Given the description of an element on the screen output the (x, y) to click on. 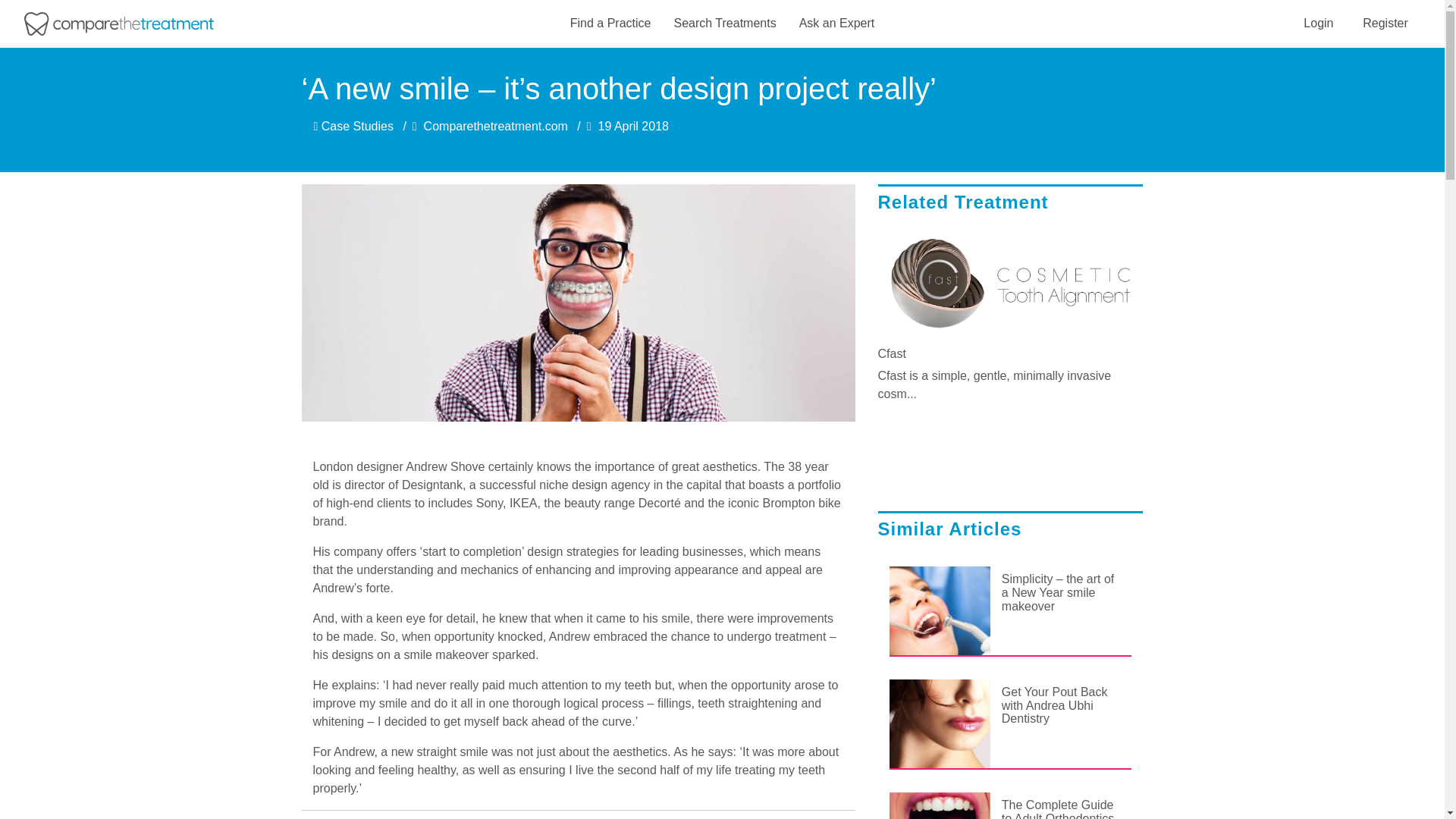
Get Your Pout Back with Andrea Ubhi Dentistry (1061, 705)
Cfast (1009, 353)
Register (1386, 23)
 Case Studies (353, 125)
Find a Practice (610, 23)
Ask an Expert (837, 23)
The Complete Guide to Adult Orthodontics (1061, 805)
Login (1318, 23)
Search Treatments (724, 23)
